Given the description of an element on the screen output the (x, y) to click on. 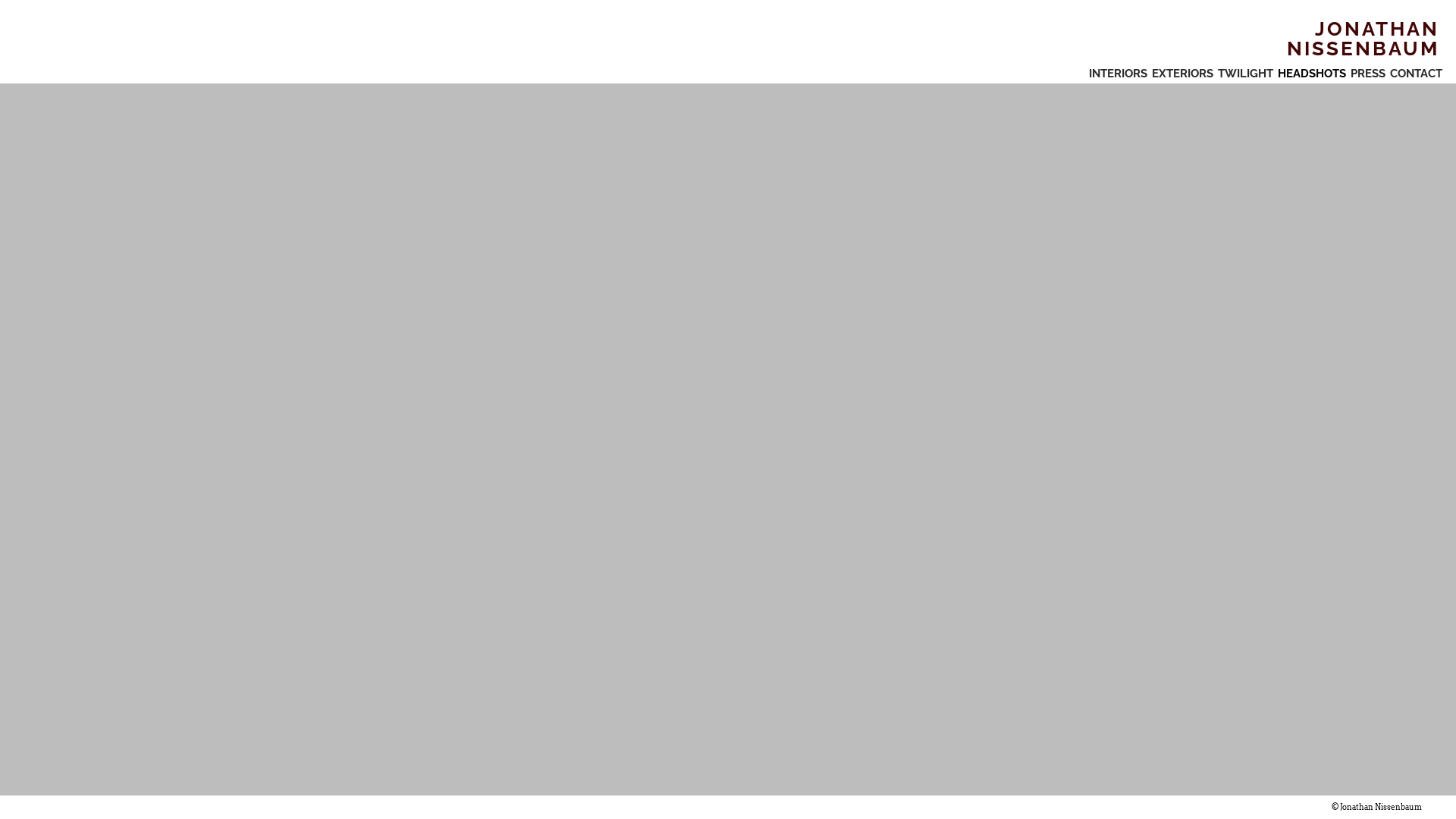
PRESS Element type: text (1367, 73)
JONATHAN NISSENBAUM Element type: text (1319, 38)
CONTACT Element type: text (1415, 73)
TWILIGHT Element type: text (1245, 73)
HEADSHOTS Element type: text (1311, 73)
INTERIORS Element type: text (1117, 73)
EXTERIORS Element type: text (1182, 73)
